Given the description of an element on the screen output the (x, y) to click on. 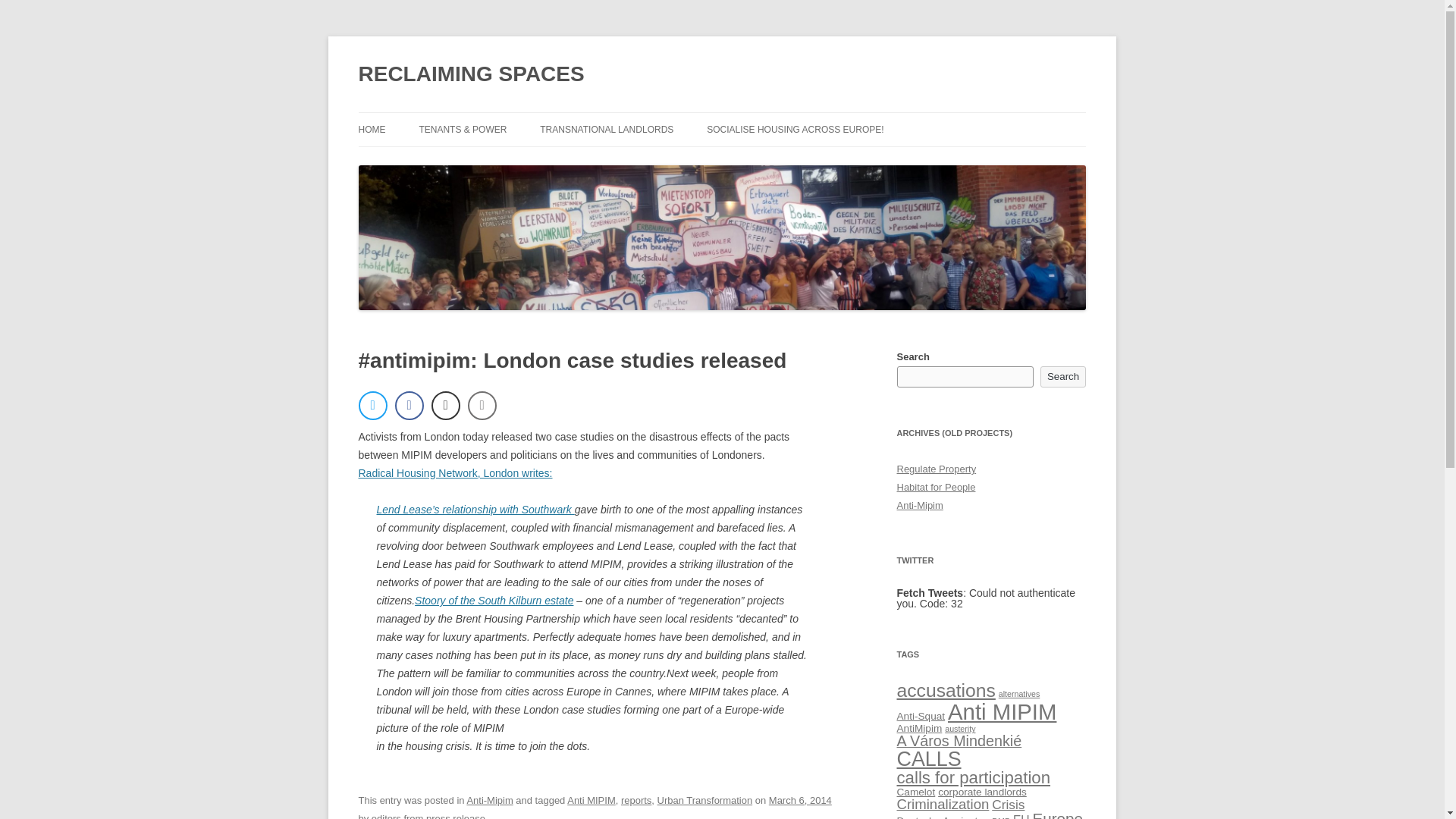
RECLAIMING SPACES (470, 74)
Anti MIPIM (1002, 711)
Regulate Property (935, 469)
AntiMipim (919, 727)
March 6, 2014 (799, 799)
Anti MIPIM (591, 799)
alternatives (1019, 693)
Radical Housing Network, London writes: (454, 472)
corporate landlords (981, 791)
Anti-Mipim (919, 505)
Crisis (1008, 804)
TRANSNATIONAL LANDLORDS (606, 129)
austerity (959, 728)
10:29 pm (799, 799)
Search (1063, 376)
